Given the description of an element on the screen output the (x, y) to click on. 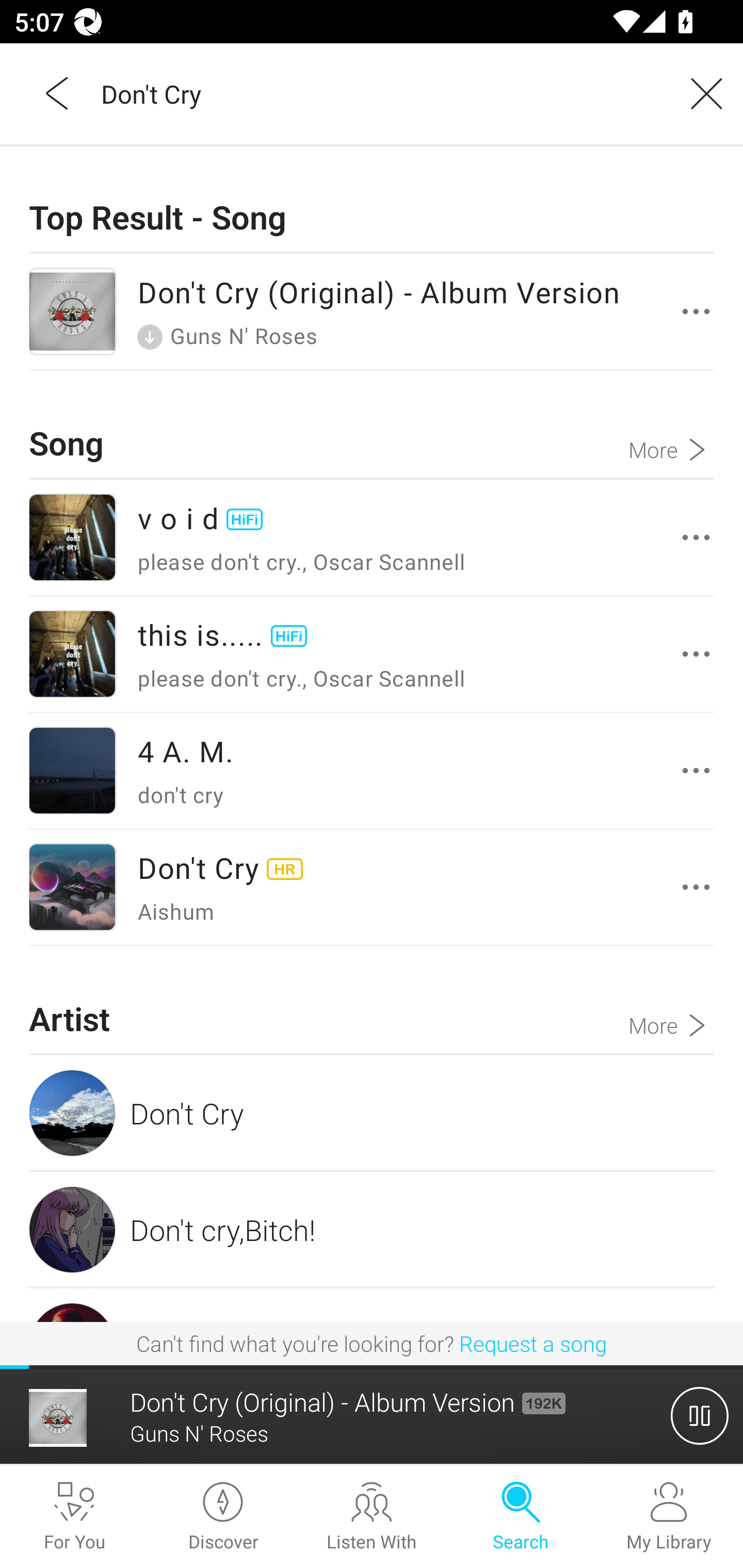
Don't Cry (378, 92)
Clear query (699, 92)
Back,outside of the list (57, 93)
更多操作選項 (695, 311)
More Song More (671, 424)
v o i d please don't cry., Oscar Scannell 更多操作選項 (371, 537)
更多操作選項 (695, 536)
更多操作選項 (695, 653)
4 A. M. don't cry 更多操作選項 (371, 770)
更多操作選項 (695, 770)
Don't Cry Aishum 更多操作選項 (371, 887)
更多操作選項 (695, 887)
More Artist More (671, 999)
Don't Cry (371, 1113)
Don't cry,Bitch! (371, 1229)
Can't find what you're looking for? Request a song (371, 1343)
暫停播放 (699, 1415)
For You (74, 1517)
Discover (222, 1517)
Listen With (371, 1517)
Search (519, 1517)
My Library (668, 1517)
